Given the description of an element on the screen output the (x, y) to click on. 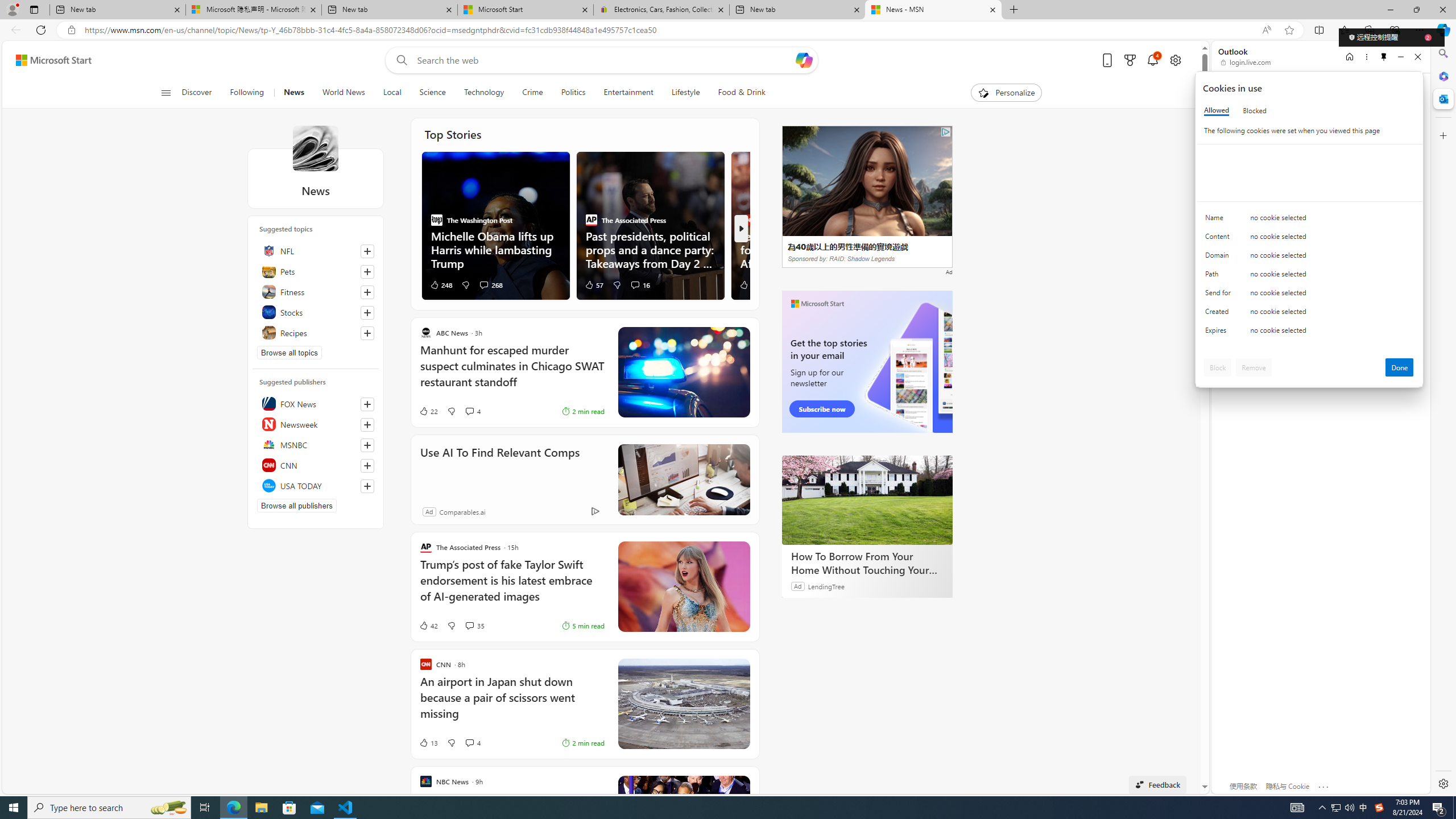
Stocks (315, 311)
Browse all publishers (296, 505)
Fitness (315, 291)
